Given the description of an element on the screen output the (x, y) to click on. 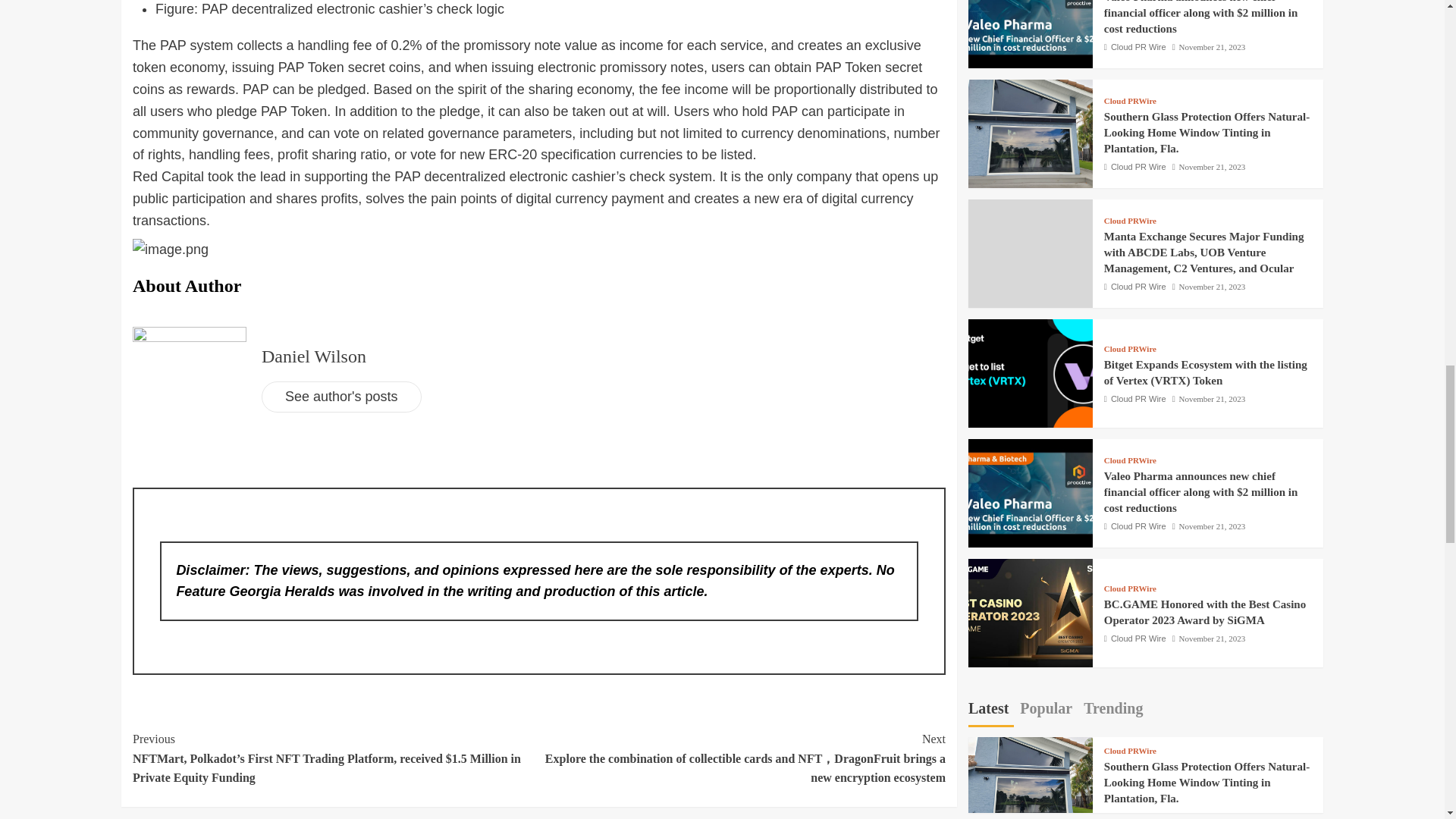
1618911673508419.png (170, 250)
See author's posts (342, 396)
Daniel Wilson (314, 356)
